Given the description of an element on the screen output the (x, y) to click on. 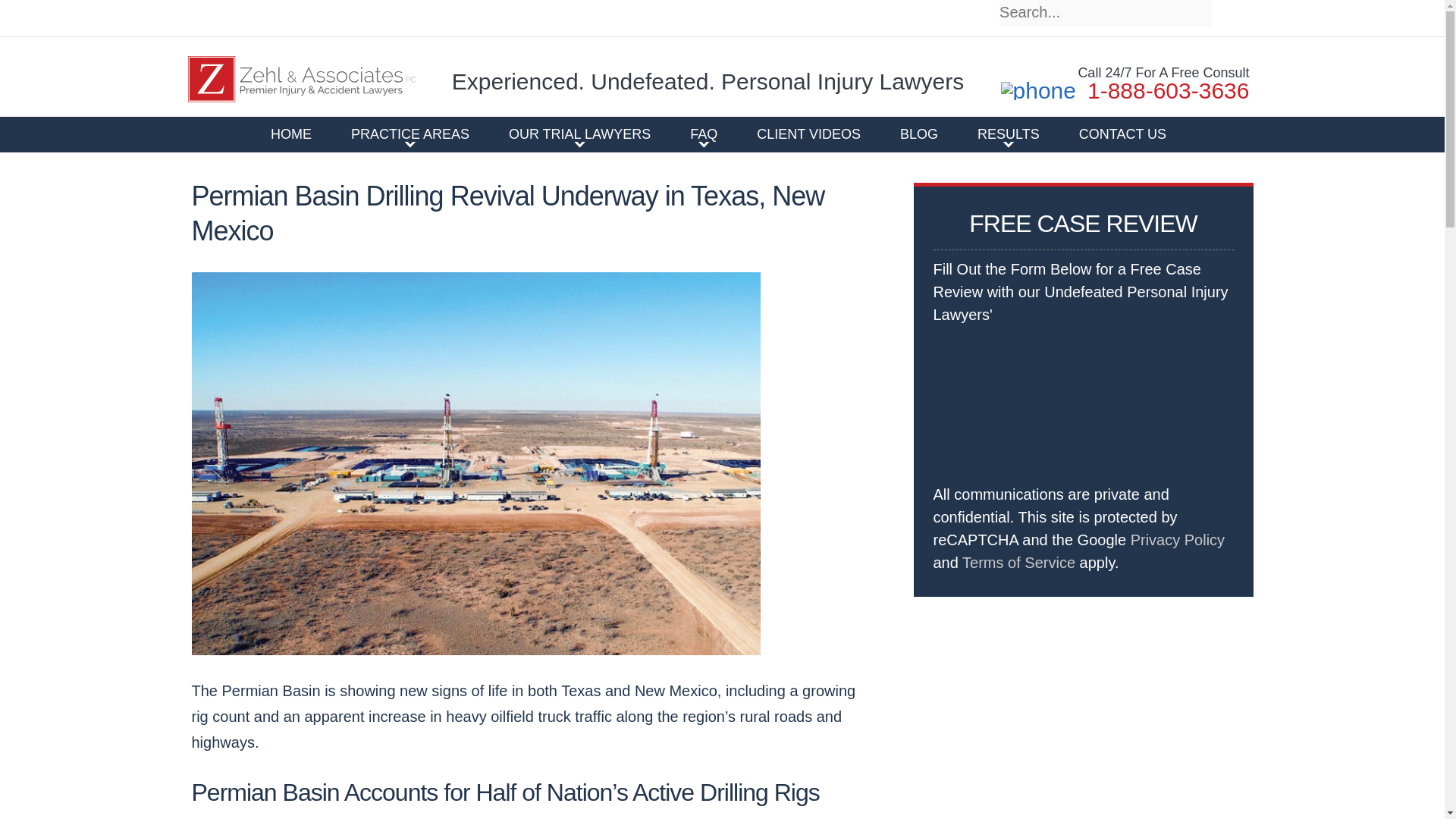
1-888-603-3636 (1125, 90)
HOME (290, 133)
PRACTICE AREAS (409, 133)
OUR TRIAL LAWYERS (579, 133)
